Given the description of an element on the screen output the (x, y) to click on. 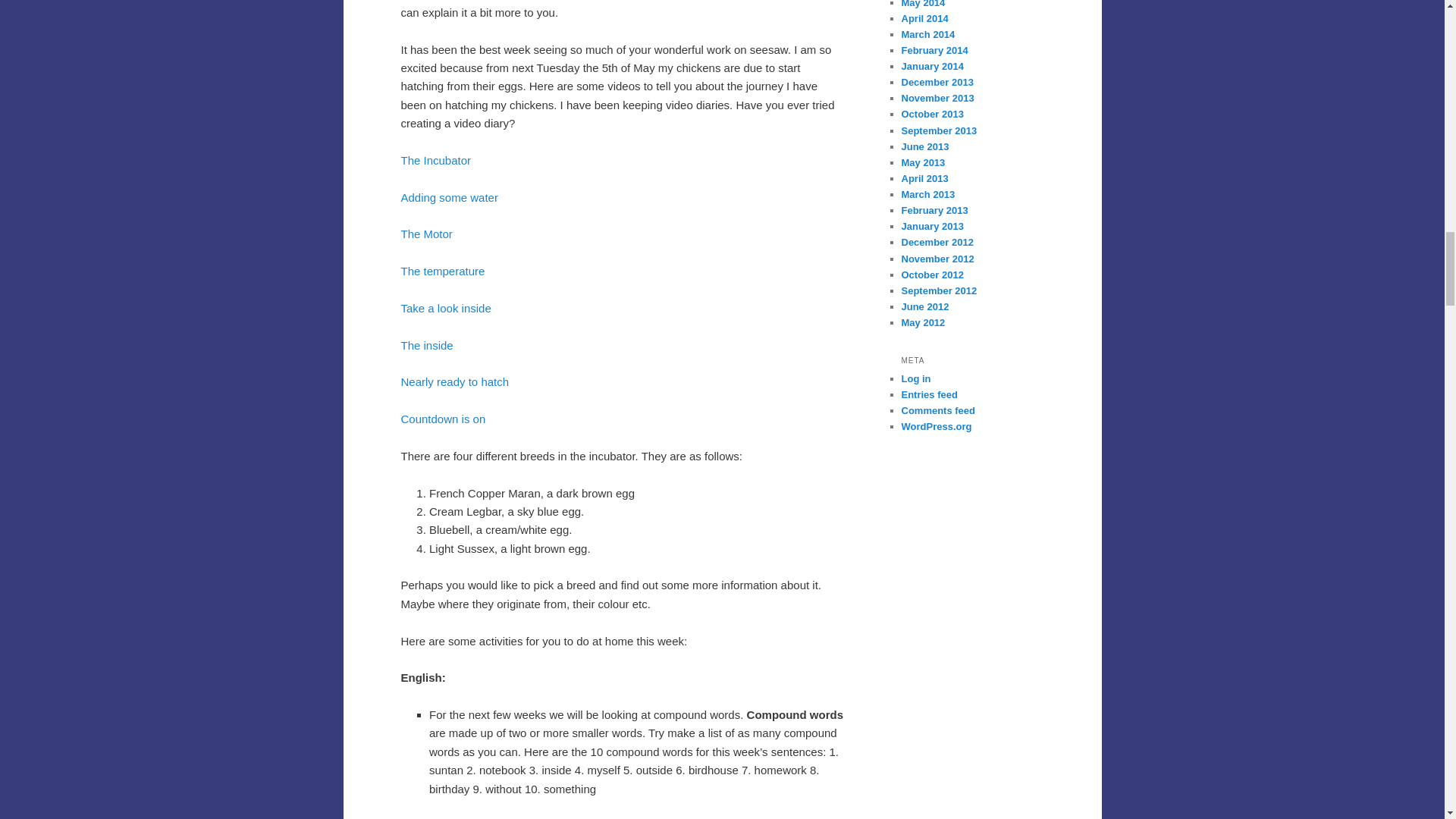
Countdown is on (442, 418)
Take a look inside (445, 308)
Nearly ready to hatch (454, 381)
The temperature (442, 270)
The Incubator (435, 160)
Adding some water (448, 196)
The inside (426, 345)
The Motor (425, 233)
